Given the description of an element on the screen output the (x, y) to click on. 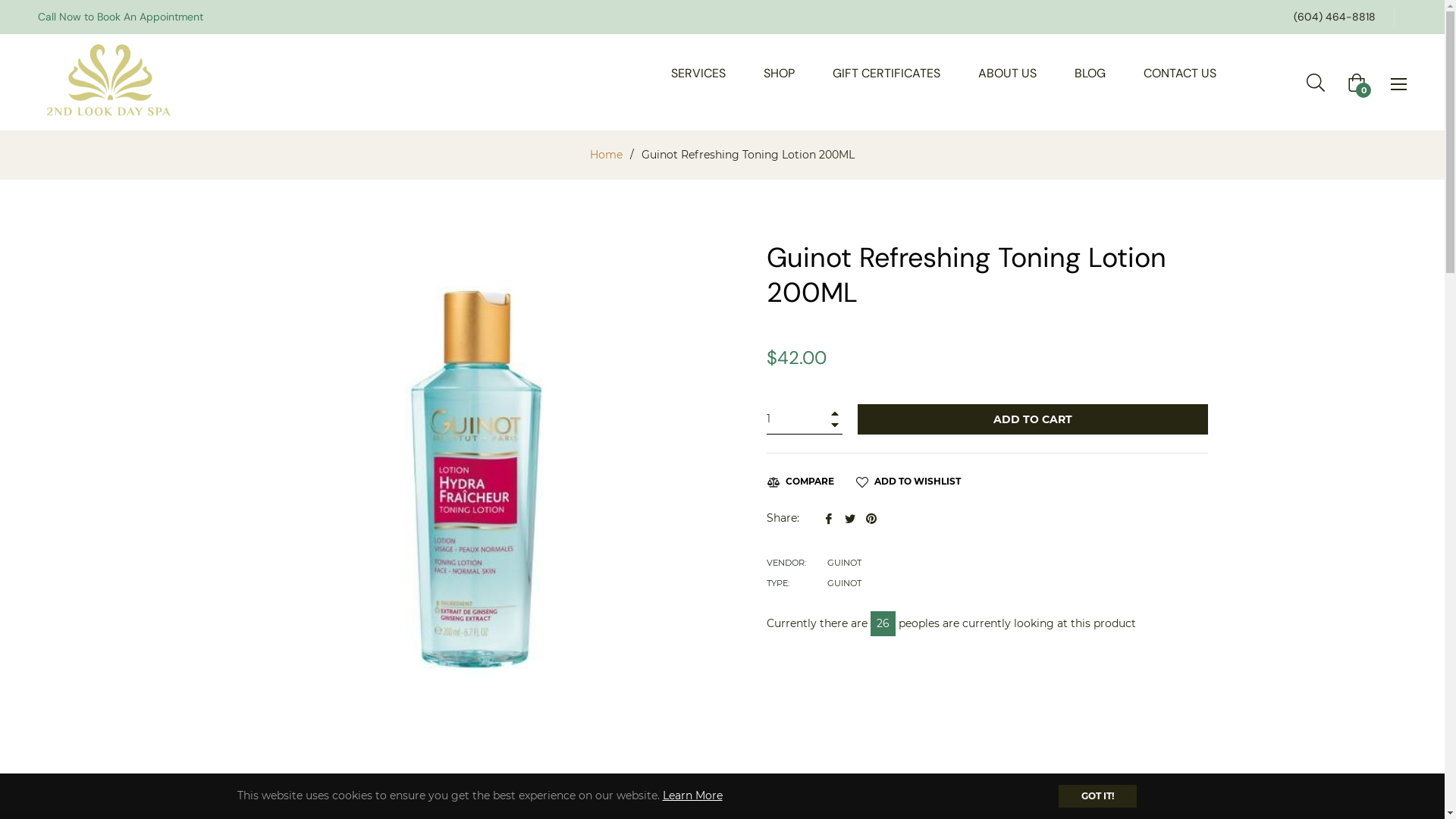
BLOG Element type: text (1089, 73)
ADD TO CART Element type: text (1031, 419)
SHOP Element type: text (778, 73)
+ Element type: text (833, 412)
CONTACT US Element type: text (1179, 73)
(604) 464-8818 Element type: text (1334, 16)
Home Element type: text (605, 154)
ABOUT US Element type: text (1007, 73)
GIFT CERTIFICATES Element type: text (886, 73)
Pin on Pinterest Element type: text (871, 517)
Learn More Element type: text (692, 795)
Share on Facebook Element type: text (830, 517)
GOT IT! Element type: text (1097, 795)
Tweet on Twitter Element type: text (851, 517)
Call Now to Book An Appointment Element type: text (120, 16)
SERVICES Element type: text (698, 73)
DESCRIPTION Element type: text (691, 787)
